Given the description of an element on the screen output the (x, y) to click on. 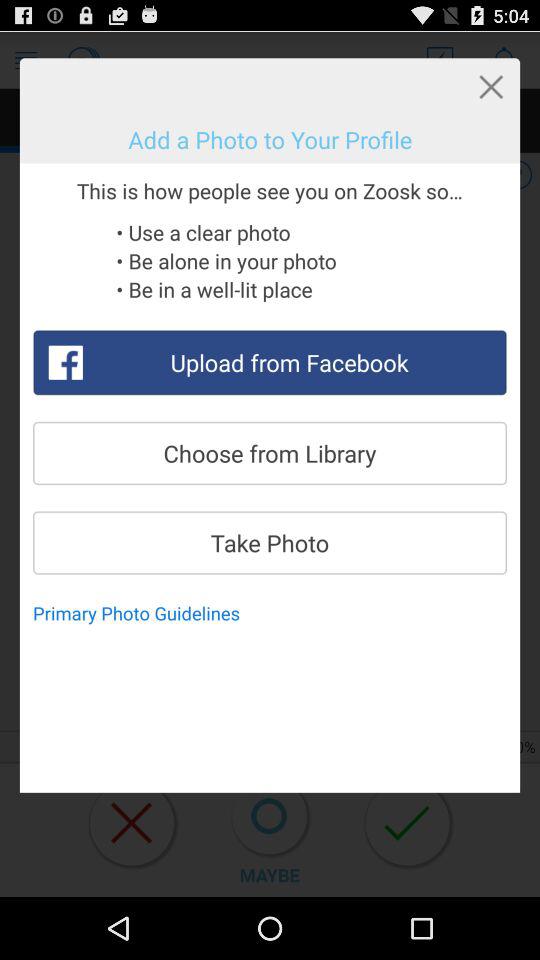
select upload from facebook (269, 362)
select the text showing primary photo guidelines (142, 613)
